Given the description of an element on the screen output the (x, y) to click on. 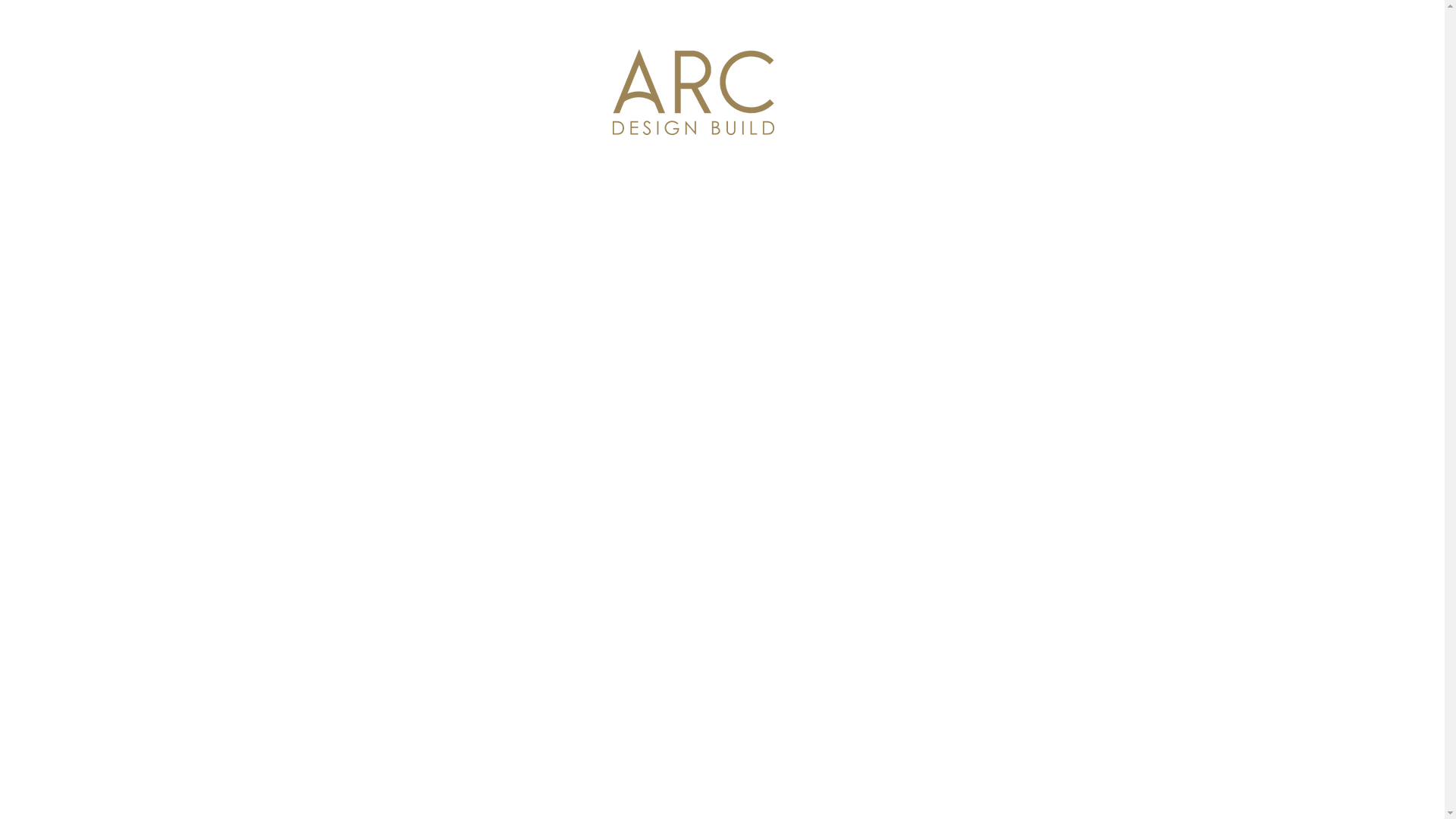
signature logo for email.png Element type: hover (693, 91)
